Given the description of an element on the screen output the (x, y) to click on. 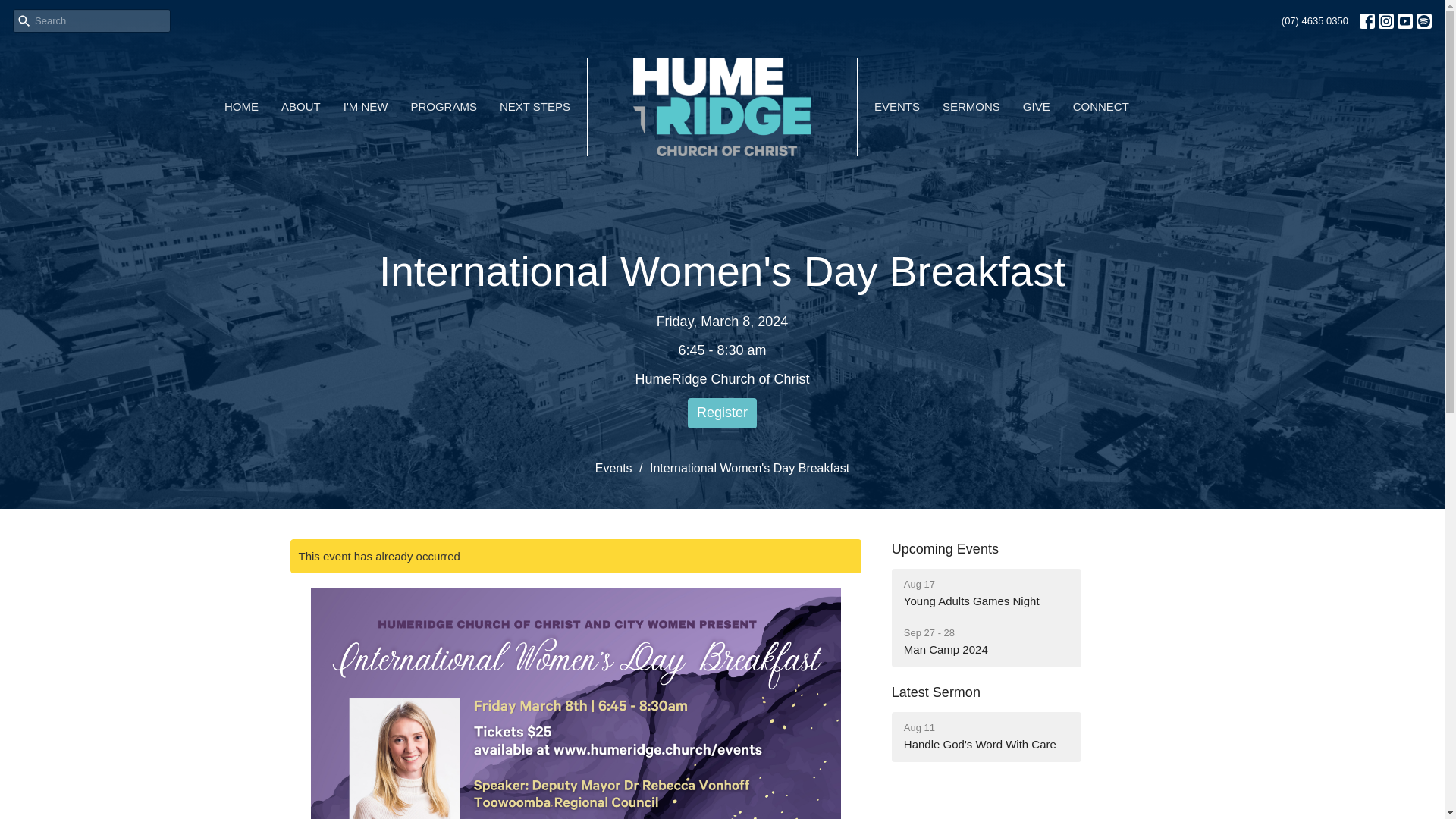
CONNECT (1101, 106)
PROGRAMS (986, 593)
Register (443, 106)
SERMONS (722, 413)
GIVE (971, 106)
I'M NEW (1036, 106)
Upcoming Events (986, 736)
NEXT STEPS (365, 106)
